Given the description of an element on the screen output the (x, y) to click on. 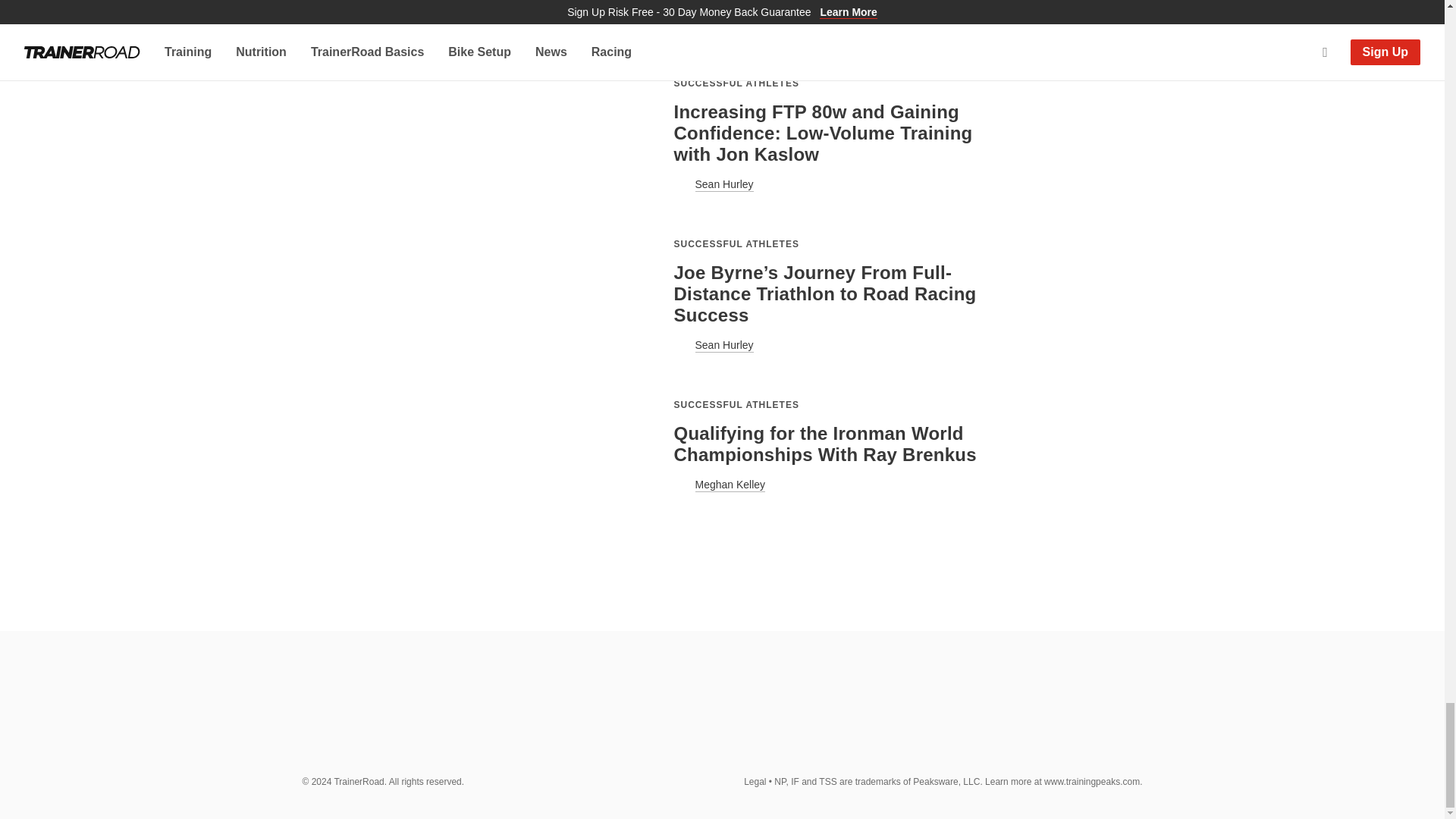
Subscribe to TrainerRoad on YouTube (1057, 717)
Follow TrainerRoad on Facebook (988, 717)
